Given the description of an element on the screen output the (x, y) to click on. 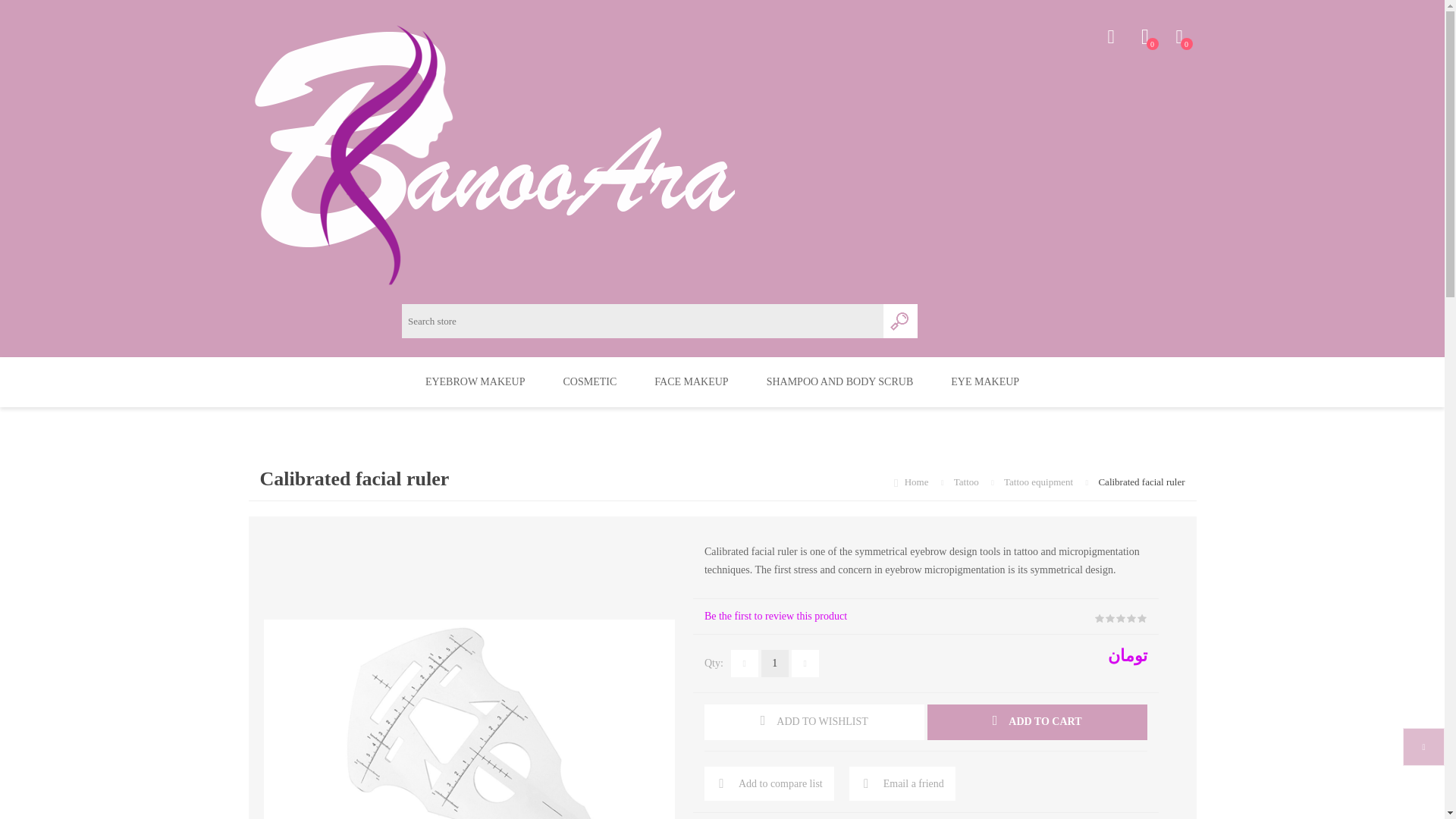
Email a friend (901, 783)
ADD TO CART (1037, 722)
EYE MAKEUP (984, 382)
COSMETIC (1144, 37)
Shopping cart (588, 382)
SHAMPOO AND BODY SCRUB (1178, 37)
eyebrow makeup (840, 382)
Search (475, 382)
Home (900, 320)
Face Makeup (917, 481)
Shampoo and body scrub (690, 382)
Search (840, 382)
Add to compare list (900, 320)
EYEBROW MAKEUP (769, 783)
